Given the description of an element on the screen output the (x, y) to click on. 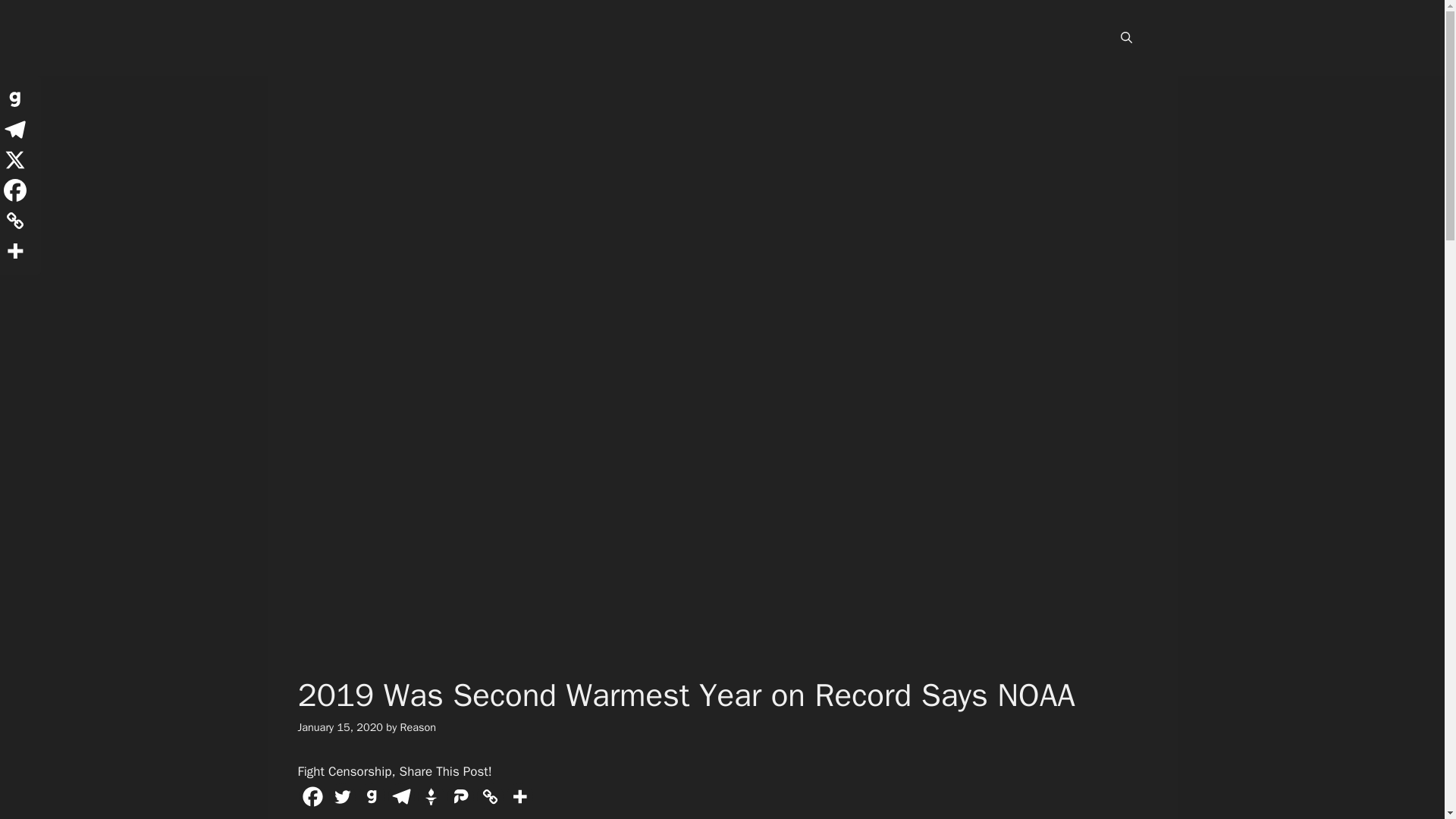
Parler (460, 795)
Gettr (430, 795)
More (519, 795)
Copy Link (489, 795)
Gab (371, 795)
Telegram (401, 795)
Twitter (342, 795)
Facebook (311, 795)
Reason (418, 726)
View all posts by Reason (418, 726)
